Given the description of an element on the screen output the (x, y) to click on. 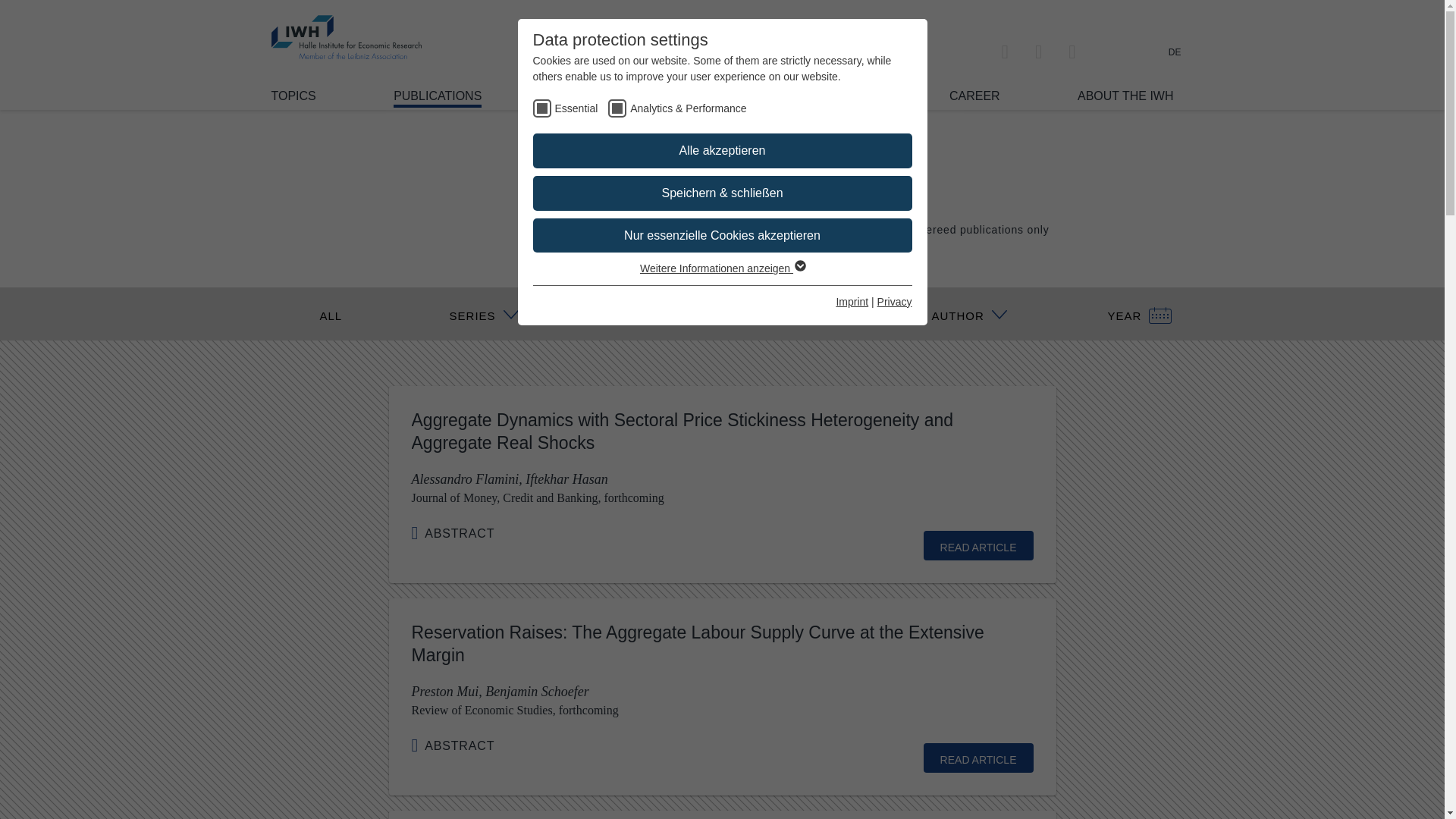
PUBLICATIONS (437, 98)
RESEARCH (593, 96)
DE (1174, 51)
TOPICS (292, 96)
1 (889, 227)
